Given the description of an element on the screen output the (x, y) to click on. 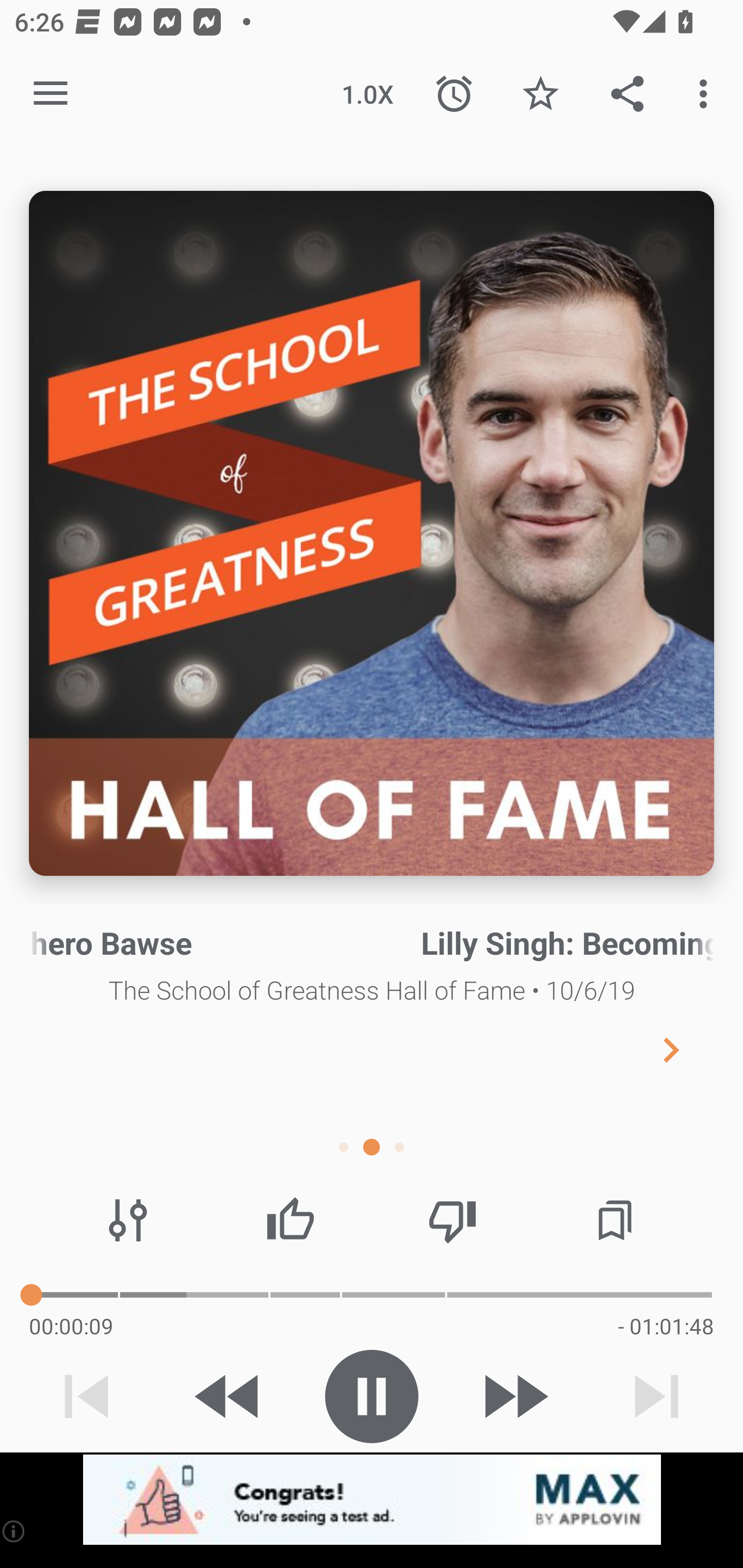
Open navigation sidebar (50, 93)
1.0X (366, 93)
Sleep Timer (453, 93)
Favorite (540, 93)
Share (626, 93)
More options (706, 93)
Episode description (371, 533)
Next Chapter (686, 1049)
Audio effects (127, 1220)
Thumbs up (290, 1220)
Thumbs down (452, 1220)
Chapters / Bookmarks (614, 1220)
- 01:01:49 (666, 1325)
Previous track (86, 1395)
Skip 15s backward (228, 1395)
Play / Pause (371, 1395)
Skip 30s forward (513, 1395)
Next track (656, 1395)
app-monetization (371, 1500)
(i) (14, 1531)
